Given the description of an element on the screen output the (x, y) to click on. 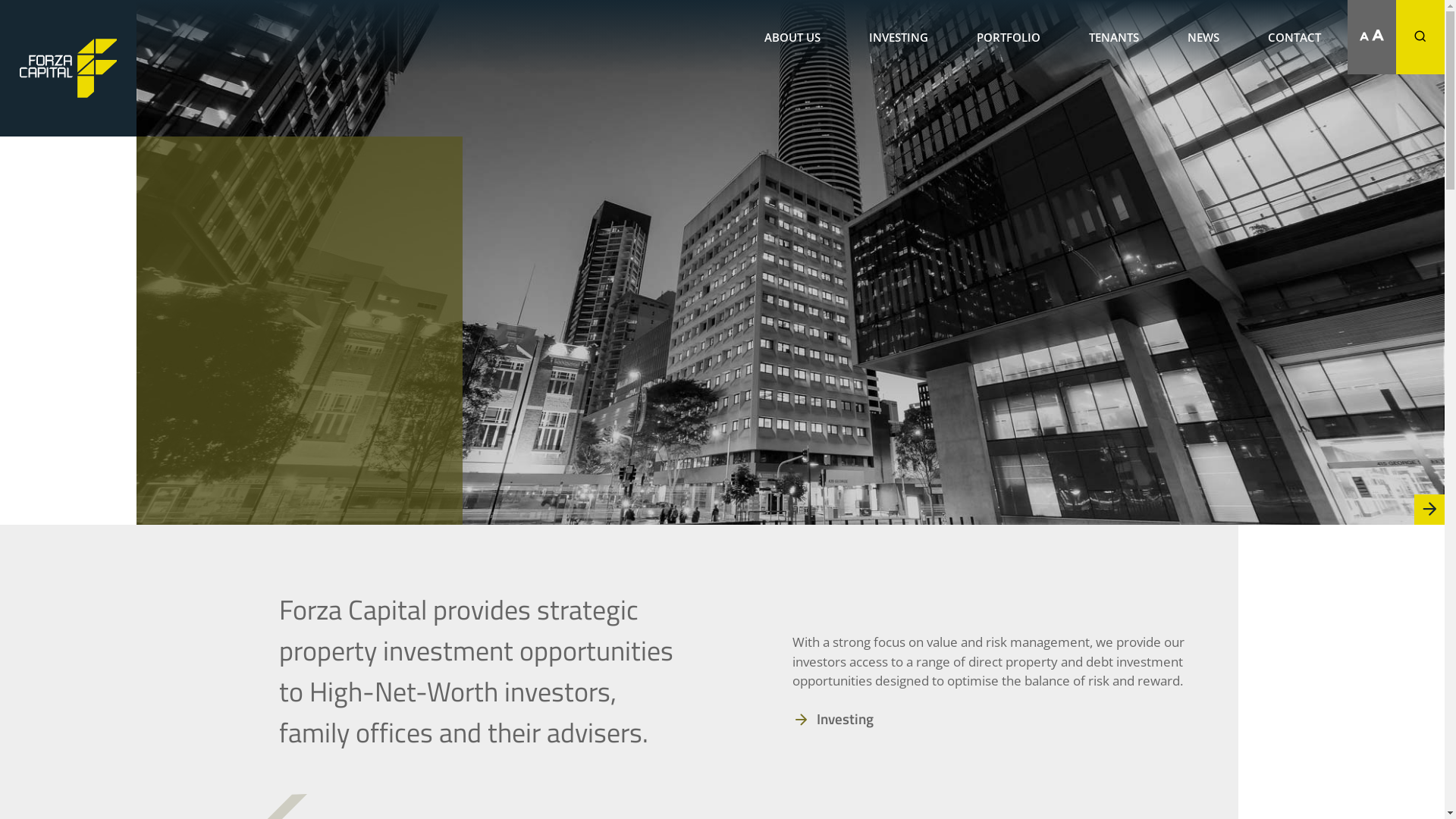
INVESTING Element type: text (898, 37)
TENANTS Element type: text (1113, 37)
CONTACT Element type: text (1294, 37)
Logo Element type: hover (68, 68)
ABOUT US Element type: text (792, 37)
NEWS Element type: text (1203, 37)
Investing Element type: text (839, 719)
PORTFOLIO Element type: text (1008, 37)
Search Element type: text (1430, 89)
